Given the description of an element on the screen output the (x, y) to click on. 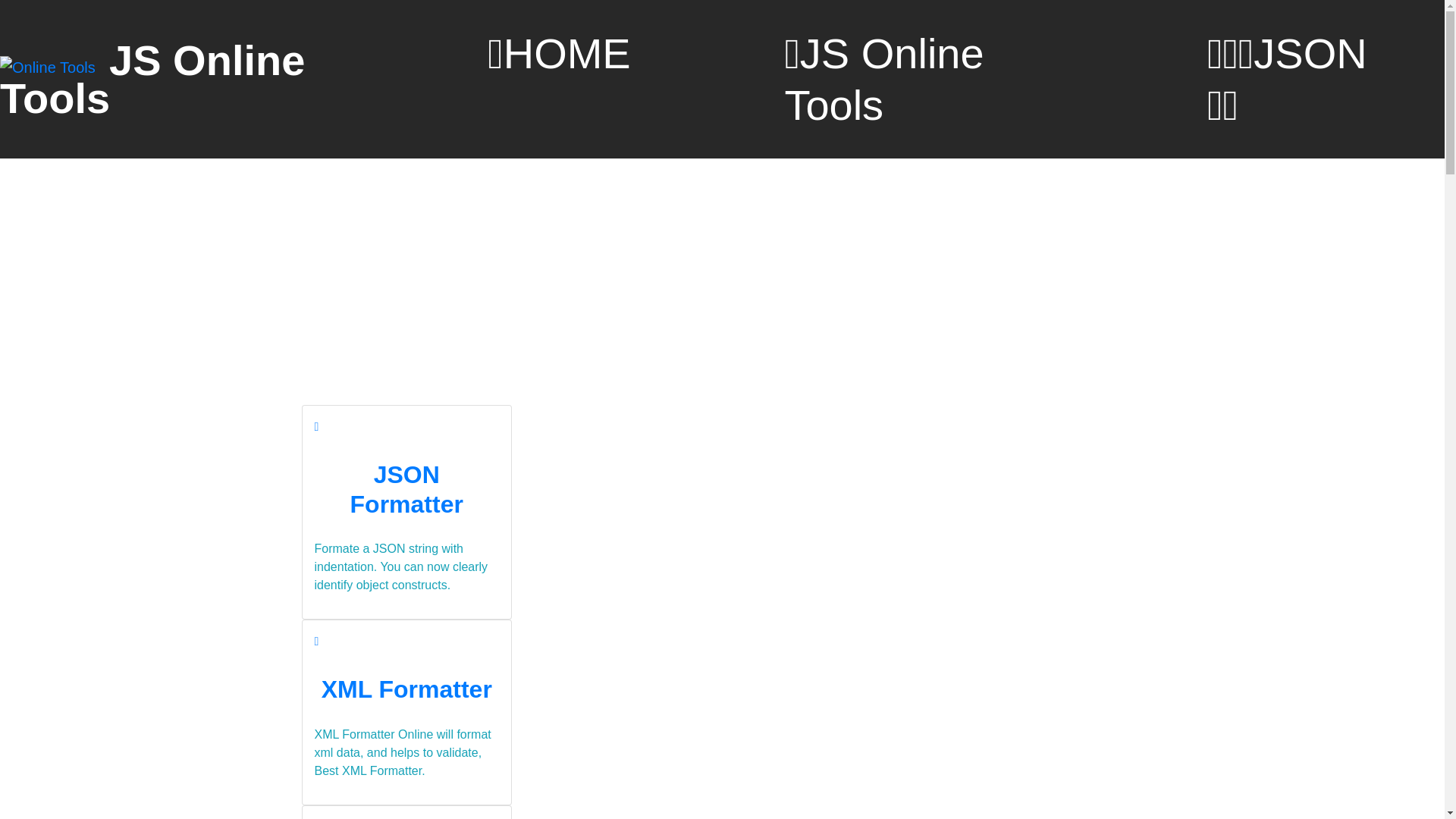
JS Online Tools Element type: text (918, 78)
json formatter Element type: hover (315, 426)
28APK JSTools Element type: hover (49, 66)
HOME Element type: text (558, 53)
JSON Formatter Element type: text (406, 489)
XML Formatter Element type: text (406, 688)
xml formatter Element type: hover (315, 640)
JS Online Tools Element type: text (152, 79)
